Given the description of an element on the screen output the (x, y) to click on. 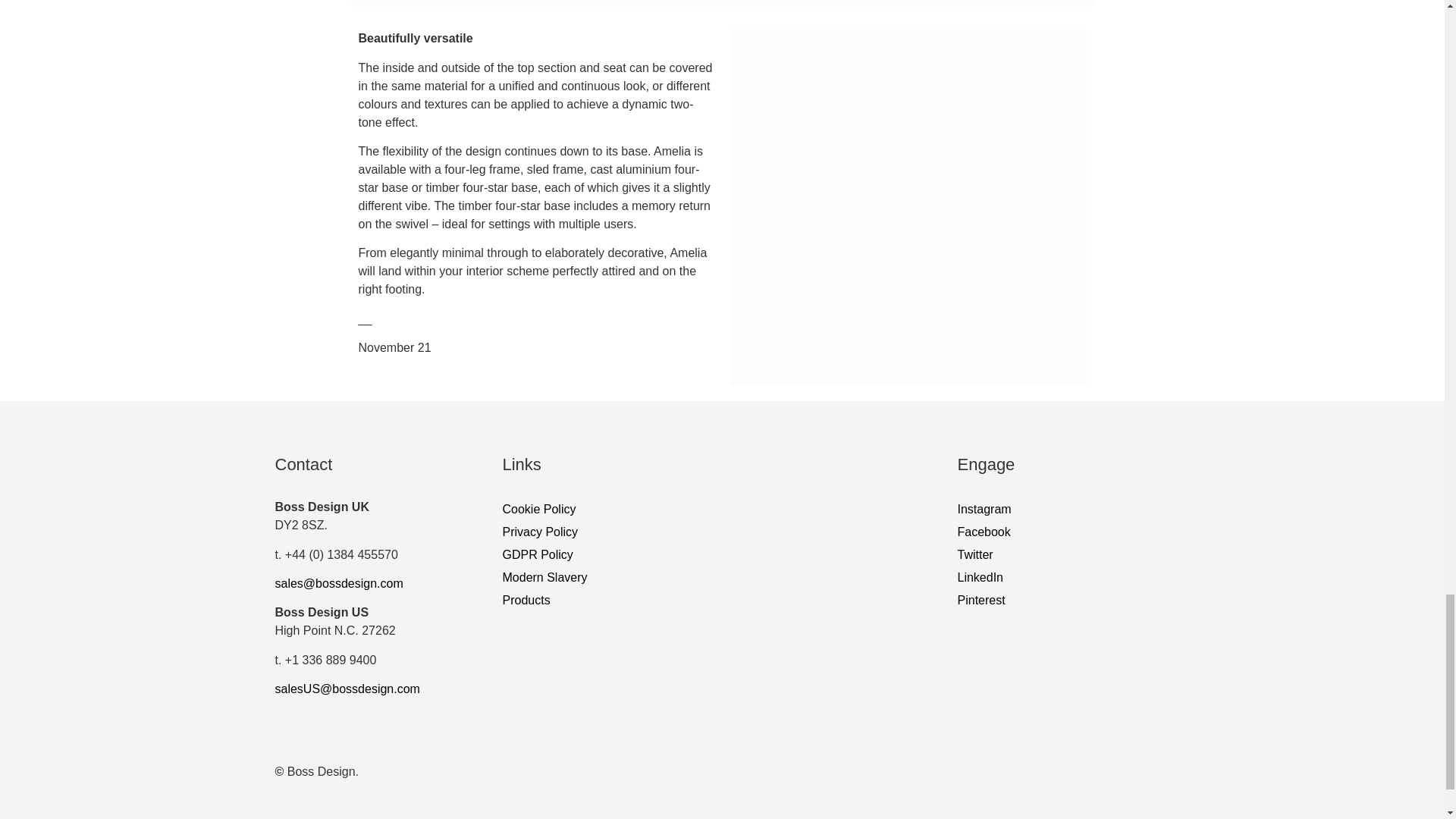
Pinterest (1061, 599)
Privacy Policy (722, 531)
Cookie Policy (722, 508)
Modern Slavery (722, 577)
Products (722, 599)
Instagram (1061, 508)
Facebook (1061, 531)
GDPR Policy (722, 554)
Twitter (1061, 554)
LinkedIn (1061, 577)
